Given the description of an element on the screen output the (x, y) to click on. 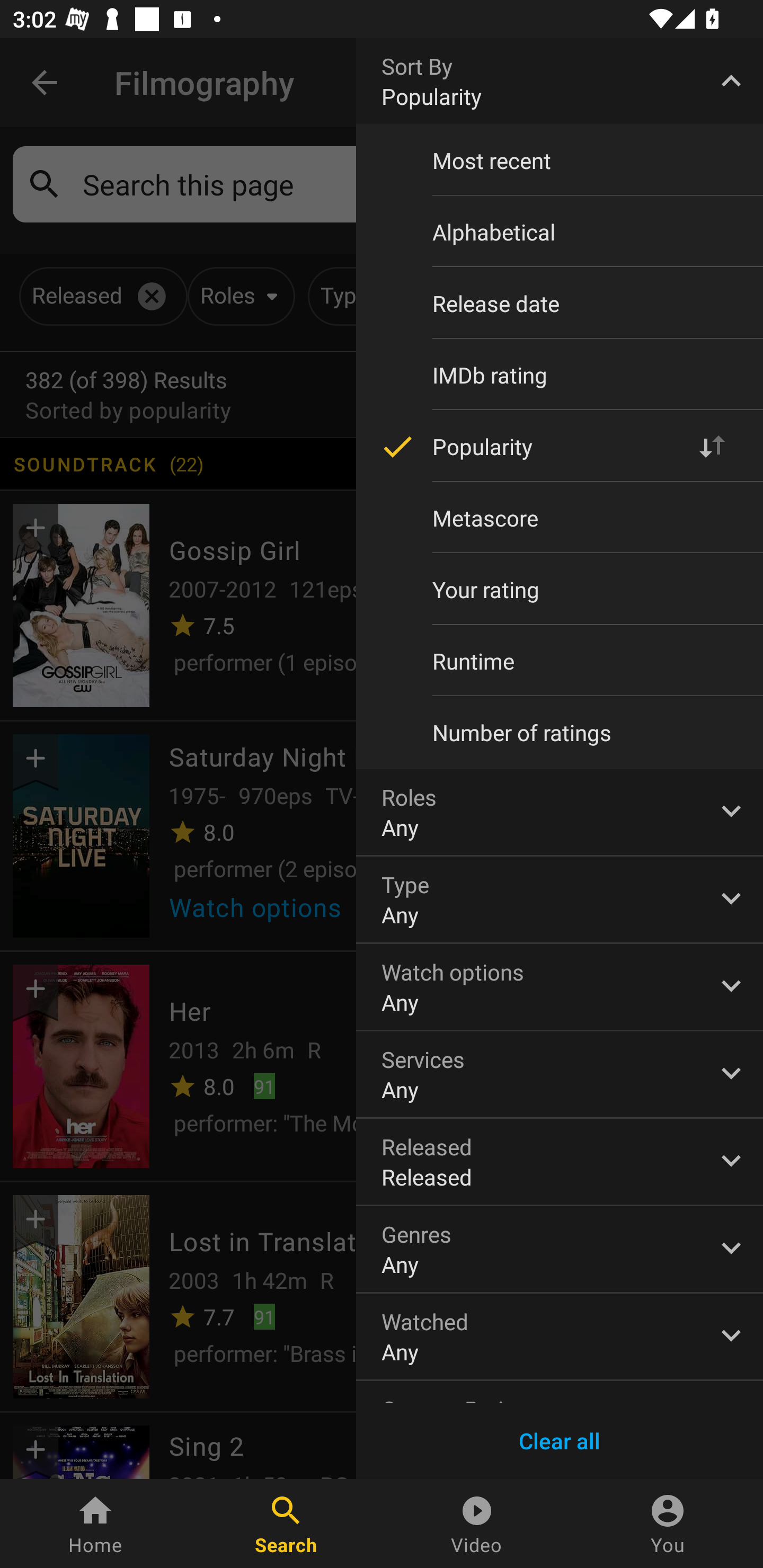
Sort By Popularity (559, 80)
Most recent (559, 160)
Alphabetical (559, 231)
Release date (559, 303)
IMDb rating (559, 374)
Popularity (559, 445)
Metascore (559, 517)
Your rating (559, 589)
Runtime (559, 660)
Number of ratings (559, 732)
Roles Any (559, 811)
Type Any (559, 899)
Watch options Any (559, 986)
Services Any (559, 1073)
Released (559, 1161)
Genres Any (559, 1248)
Watched Any (559, 1336)
Clear all (559, 1440)
Home (95, 1523)
Video (476, 1523)
You (667, 1523)
